Given the description of an element on the screen output the (x, y) to click on. 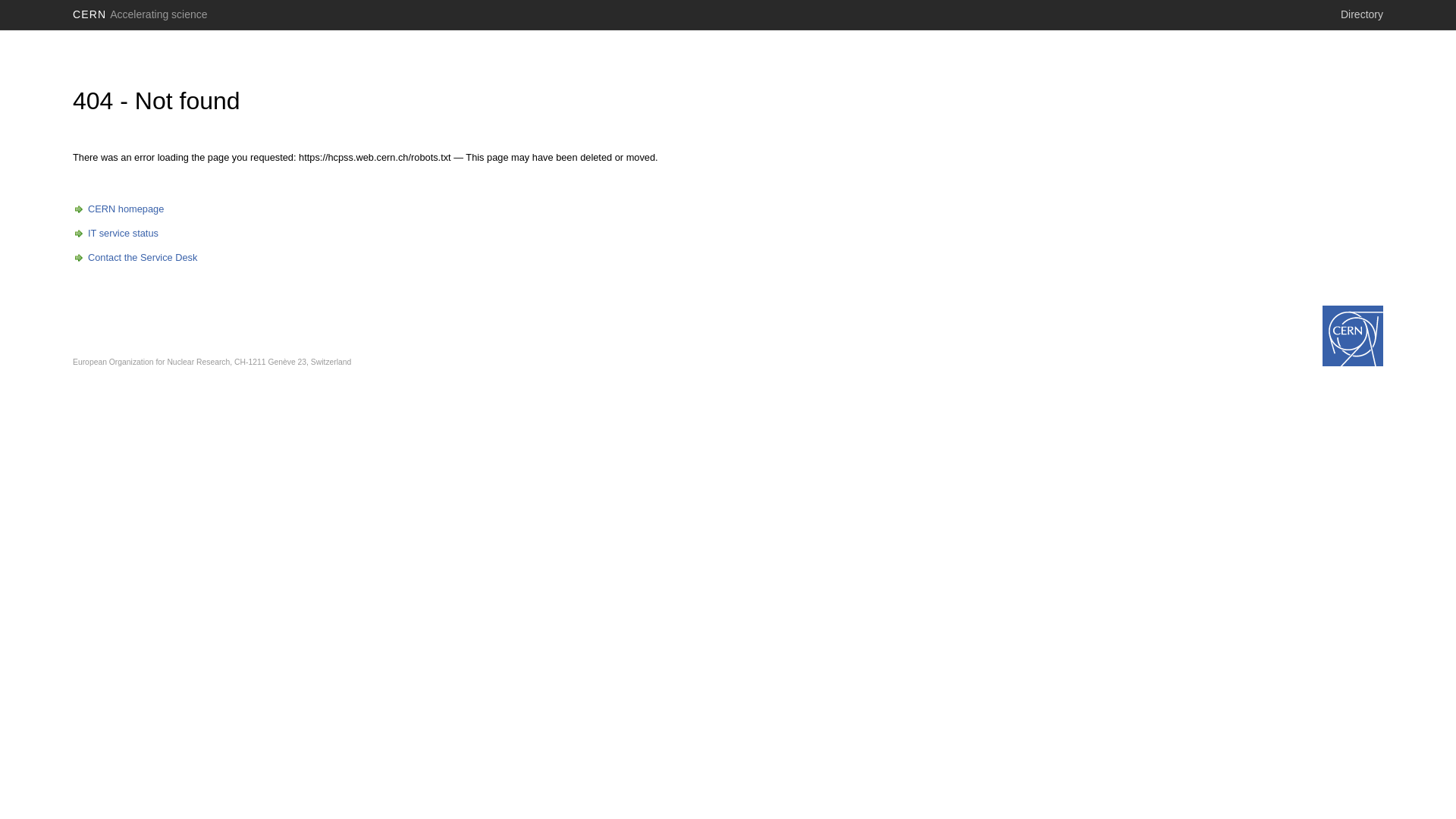
Contact the Service Desk Element type: text (134, 257)
CERN Accelerating science Element type: text (139, 14)
home.cern Element type: hover (1352, 335)
Directory Element type: text (1361, 14)
CERN homepage Element type: text (117, 208)
IT service status Element type: text (115, 232)
